Given the description of an element on the screen output the (x, y) to click on. 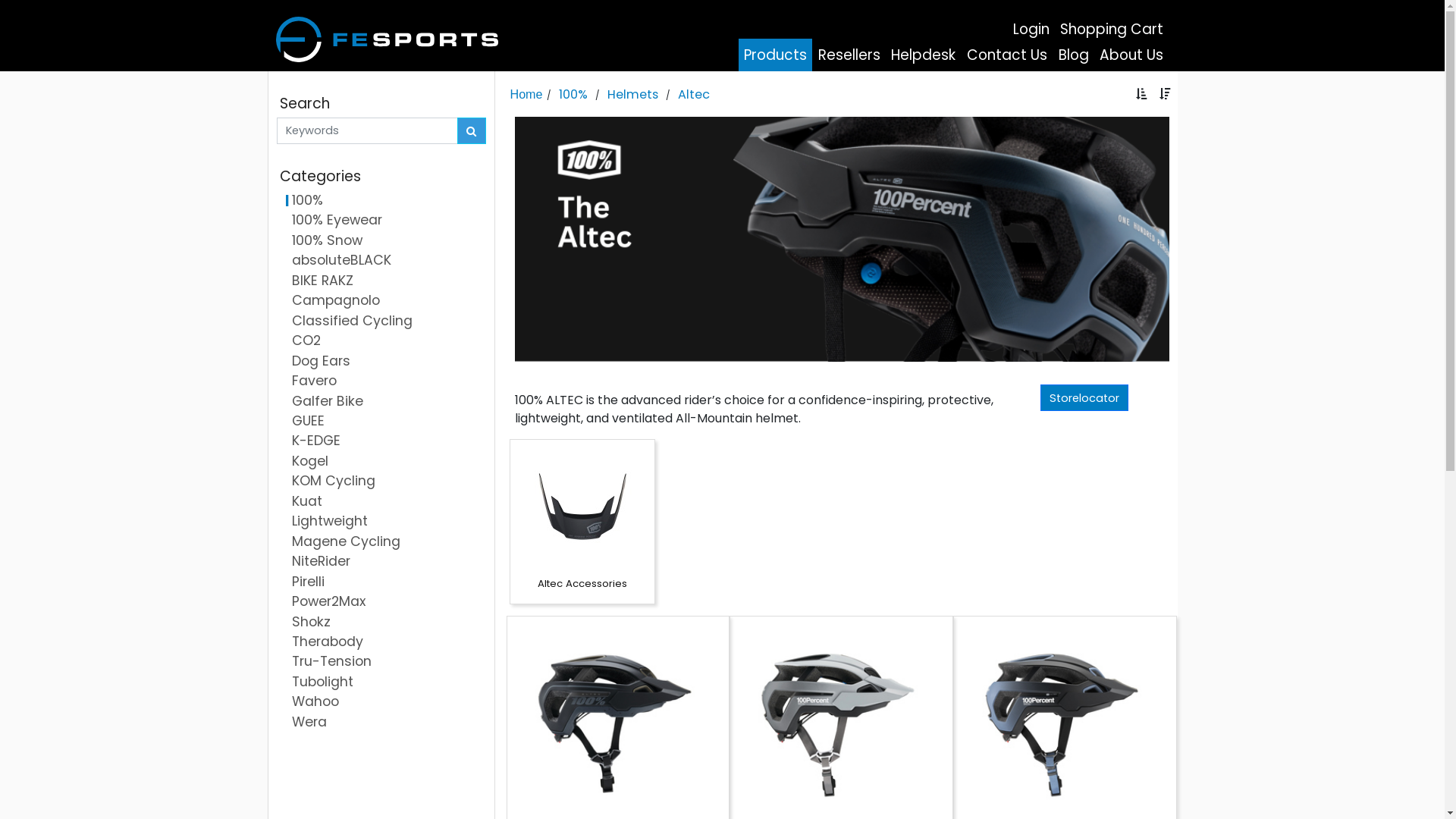
Tubolight Element type: text (380, 682)
Galfer Bike Element type: text (380, 401)
Kuat Element type: text (380, 501)
Shopping Cart Element type: text (1111, 29)
Lightweight Element type: text (380, 521)
Shokz Element type: text (380, 622)
100% Element type: text (573, 94)
Sort ascending Element type: hover (1141, 94)
Login Element type: text (1030, 29)
Home Element type: text (526, 93)
Dog Ears Element type: text (380, 361)
Pirelli Element type: text (380, 582)
Contact Us Element type: text (1007, 54)
Wahoo Element type: text (380, 702)
100% Eyewear Element type: text (380, 220)
absoluteBLACK Element type: text (380, 260)
Helpdesk Element type: text (923, 54)
About Us Element type: text (1131, 54)
Altec Accessories Element type: text (581, 521)
Power2Max Element type: text (380, 601)
Storelocator Element type: text (1084, 397)
K-EDGE Element type: text (380, 441)
Favero Element type: text (380, 381)
Therabody Element type: text (380, 642)
Wera Element type: text (380, 722)
Altec Element type: text (693, 94)
GUEE Element type: text (380, 421)
Campagnolo Element type: text (380, 300)
Sort descending Element type: hover (1164, 94)
Altec Element type: text (693, 94)
Helmets Element type: text (632, 94)
Blog Element type: text (1073, 54)
Classified Cycling Element type: text (380, 321)
KOM Cycling Element type: text (380, 481)
100% Element type: text (380, 200)
NiteRider Element type: text (380, 561)
CO2 Element type: text (380, 341)
Tru-Tension Element type: text (380, 661)
Kogel Element type: text (380, 461)
100% Snow Element type: text (380, 241)
Resellers Element type: text (848, 54)
Helmets Element type: text (632, 94)
BIKE RAKZ Element type: text (380, 281)
Magene Cycling Element type: text (380, 542)
100% Element type: text (573, 94)
Products Element type: text (775, 54)
